Given the description of an element on the screen output the (x, y) to click on. 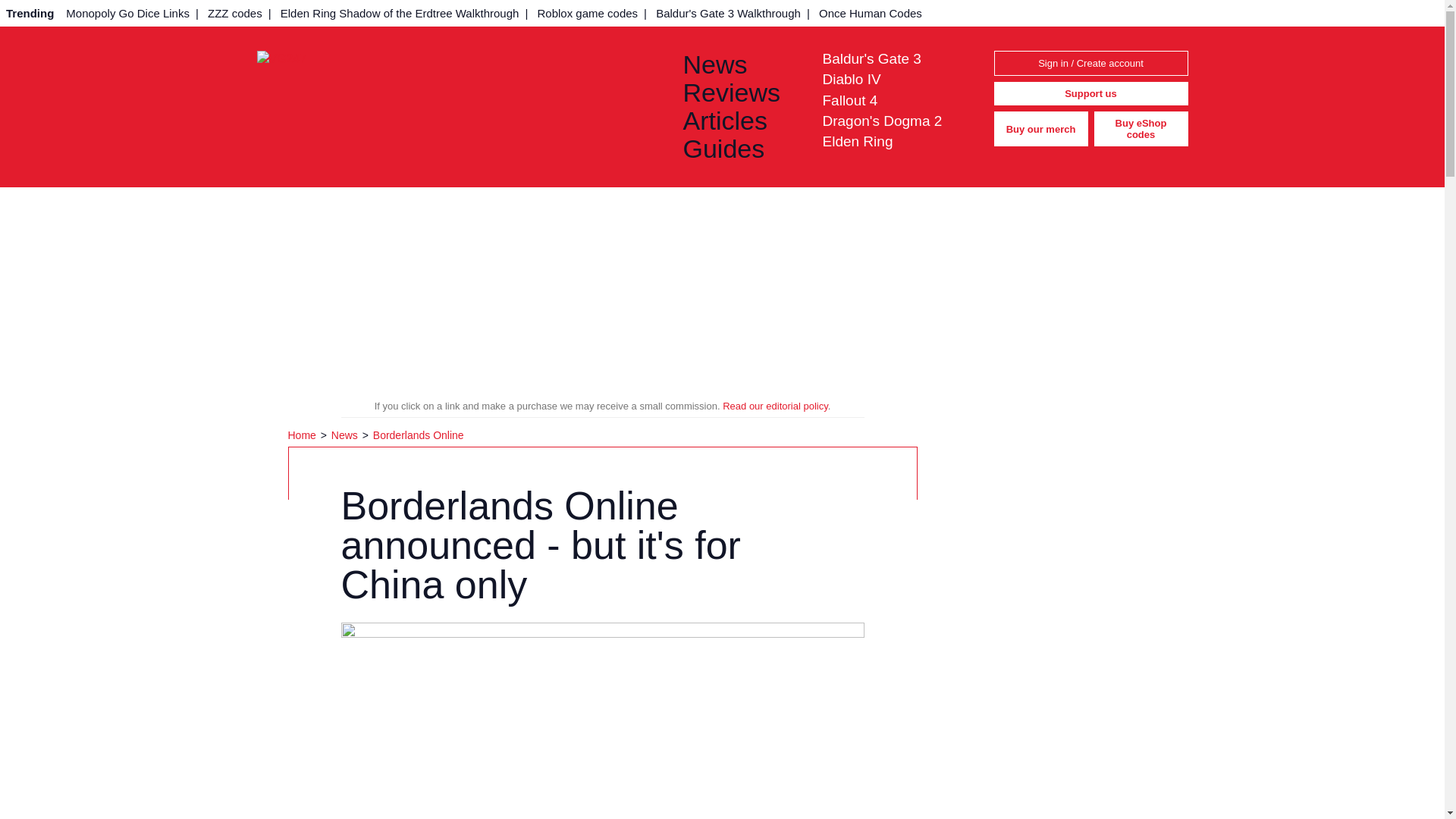
Once Human Codes (870, 13)
News (739, 64)
Support us (1090, 93)
ZZZ codes (234, 13)
News (739, 64)
Roblox game codes (587, 13)
Baldur's Gate 3 (871, 58)
Home (303, 435)
Diablo IV (851, 78)
Fallout 4 (849, 100)
News (346, 435)
Guides (739, 148)
Articles (739, 121)
Roblox game codes (587, 13)
Diablo IV (851, 78)
